Given the description of an element on the screen output the (x, y) to click on. 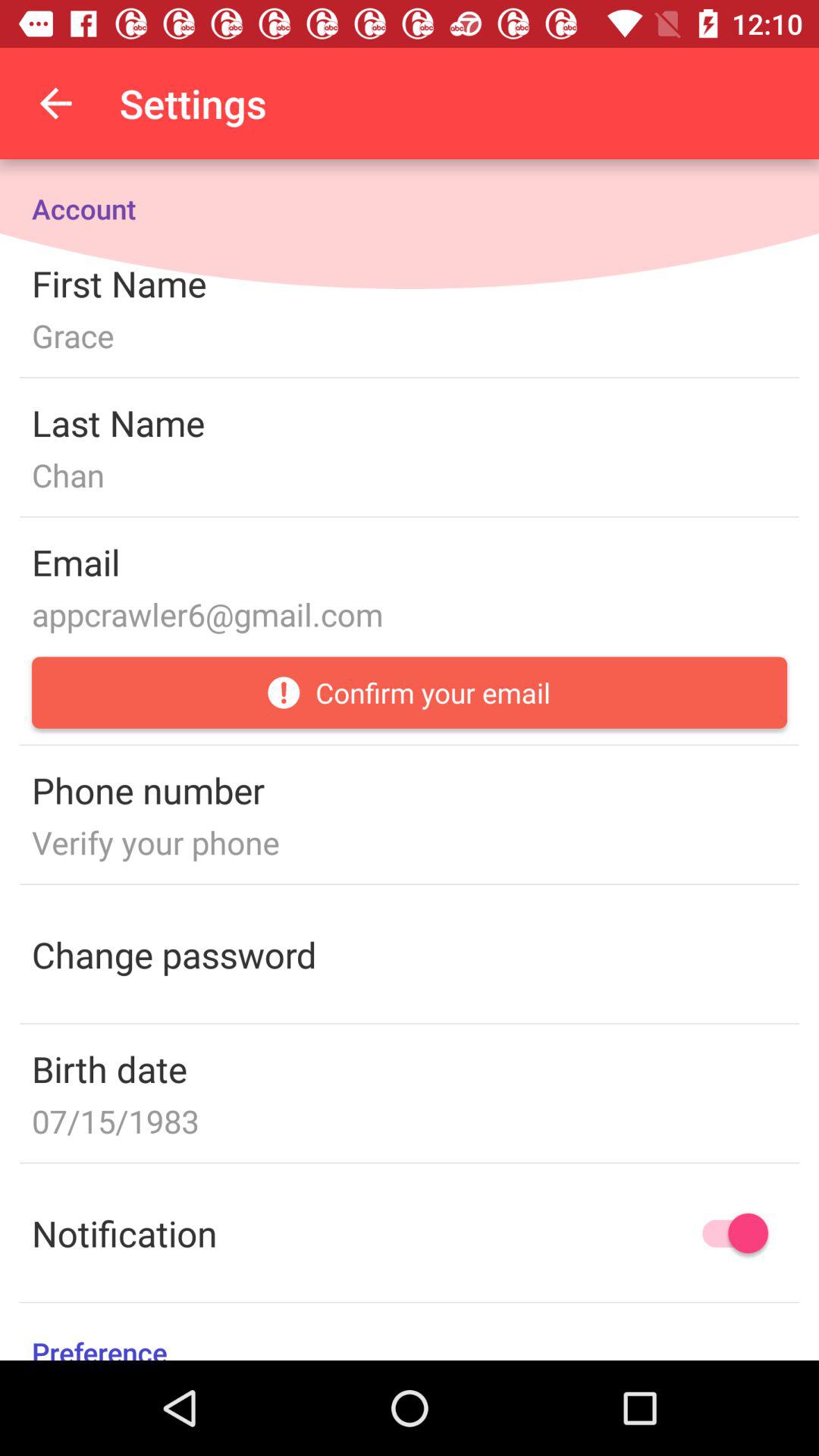
tap the item to the right of the notification item (727, 1233)
